Given the description of an element on the screen output the (x, y) to click on. 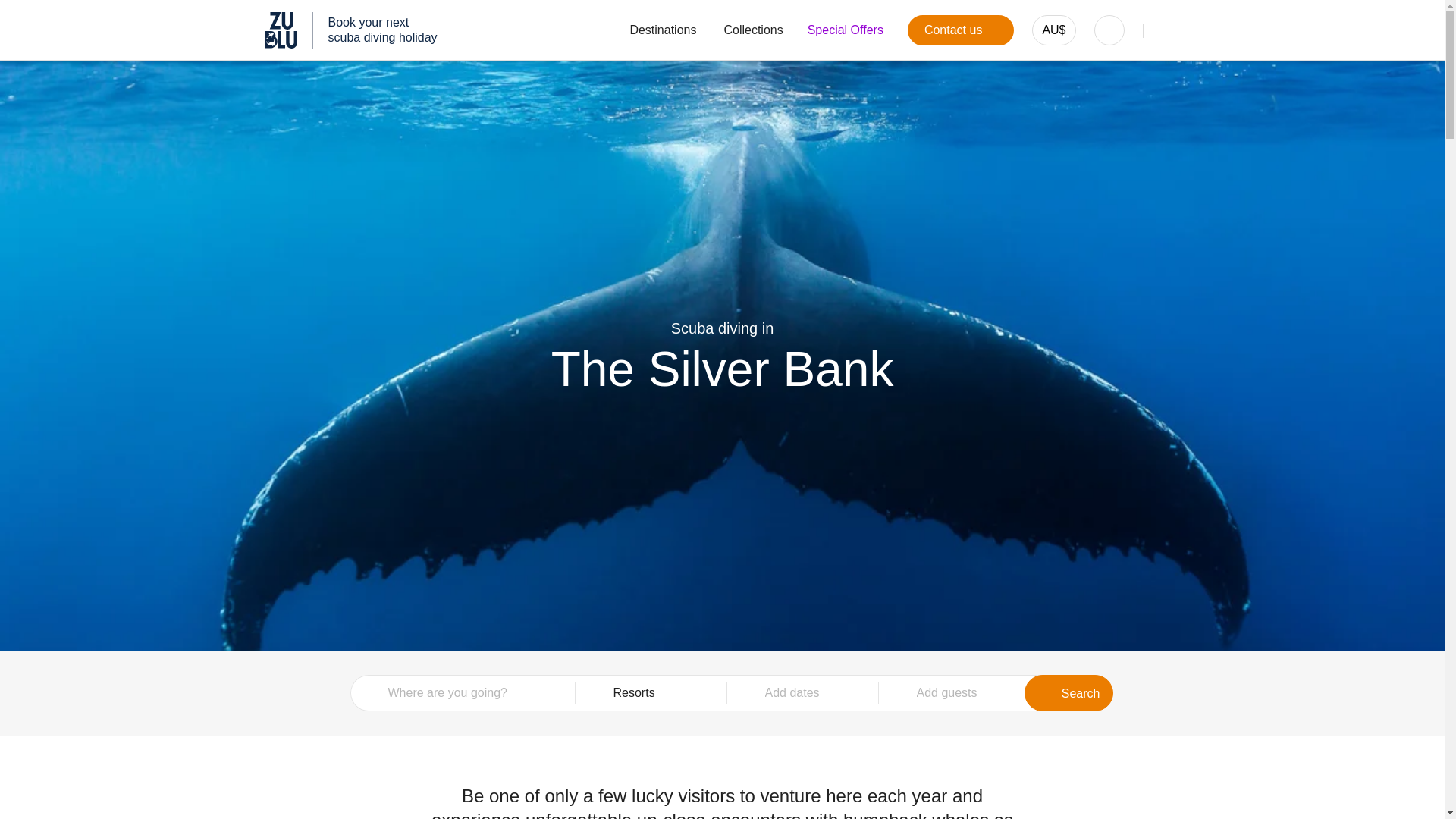
Add dates (351, 30)
button (801, 692)
Toggle dropdown (753, 30)
Resorts (960, 30)
Contact us (650, 692)
Search (960, 30)
Toggle dropdown (1069, 692)
Add dates (1053, 30)
Collections (801, 692)
